Given the description of an element on the screen output the (x, y) to click on. 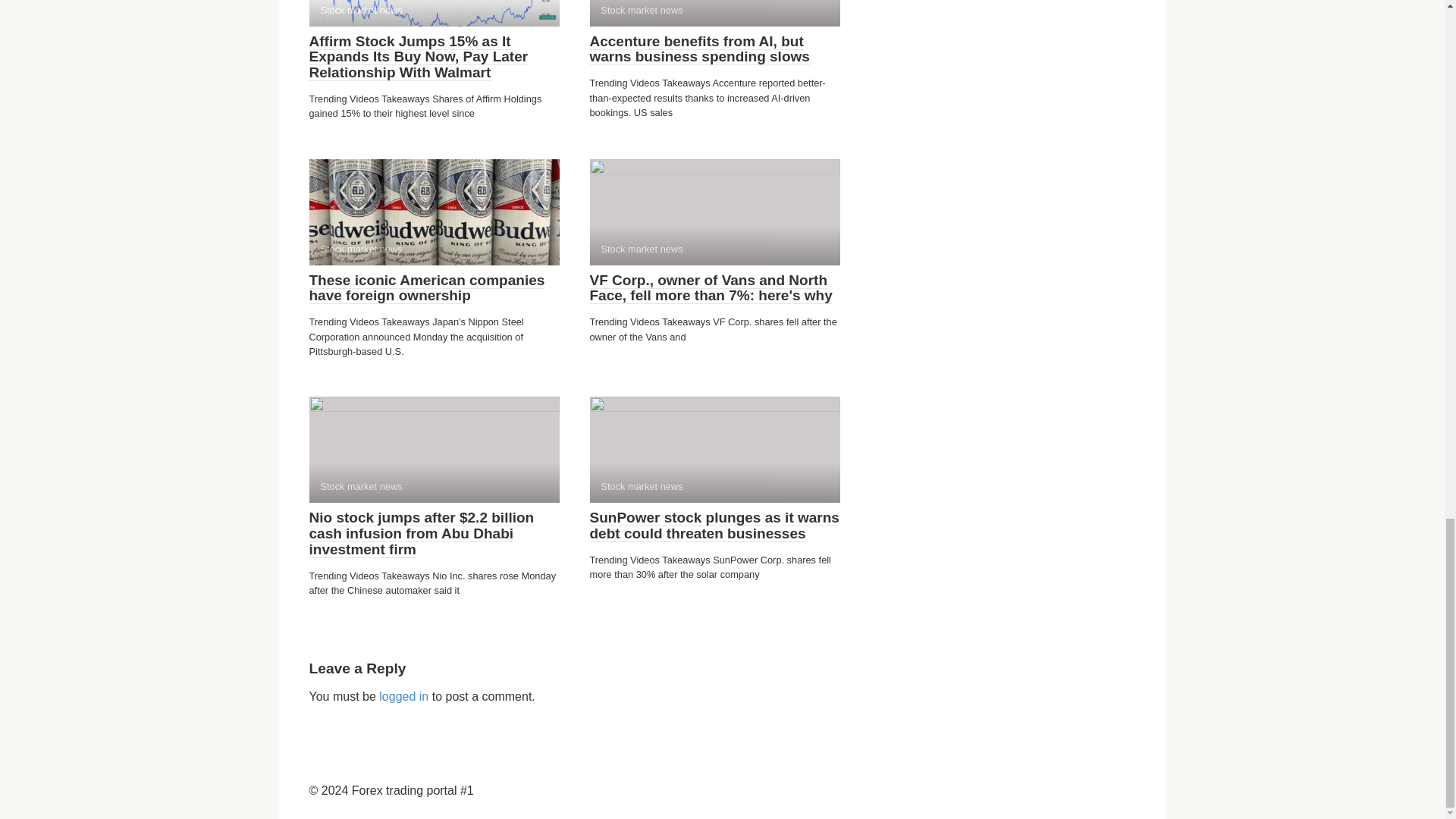
Stock market news (433, 449)
Stock market news (714, 211)
logged in (403, 696)
Stock market news (433, 13)
These iconic American companies have foreign ownership (426, 287)
Stock market news (714, 449)
Stock market news (433, 211)
Stock market news (714, 13)
